Given the description of an element on the screen output the (x, y) to click on. 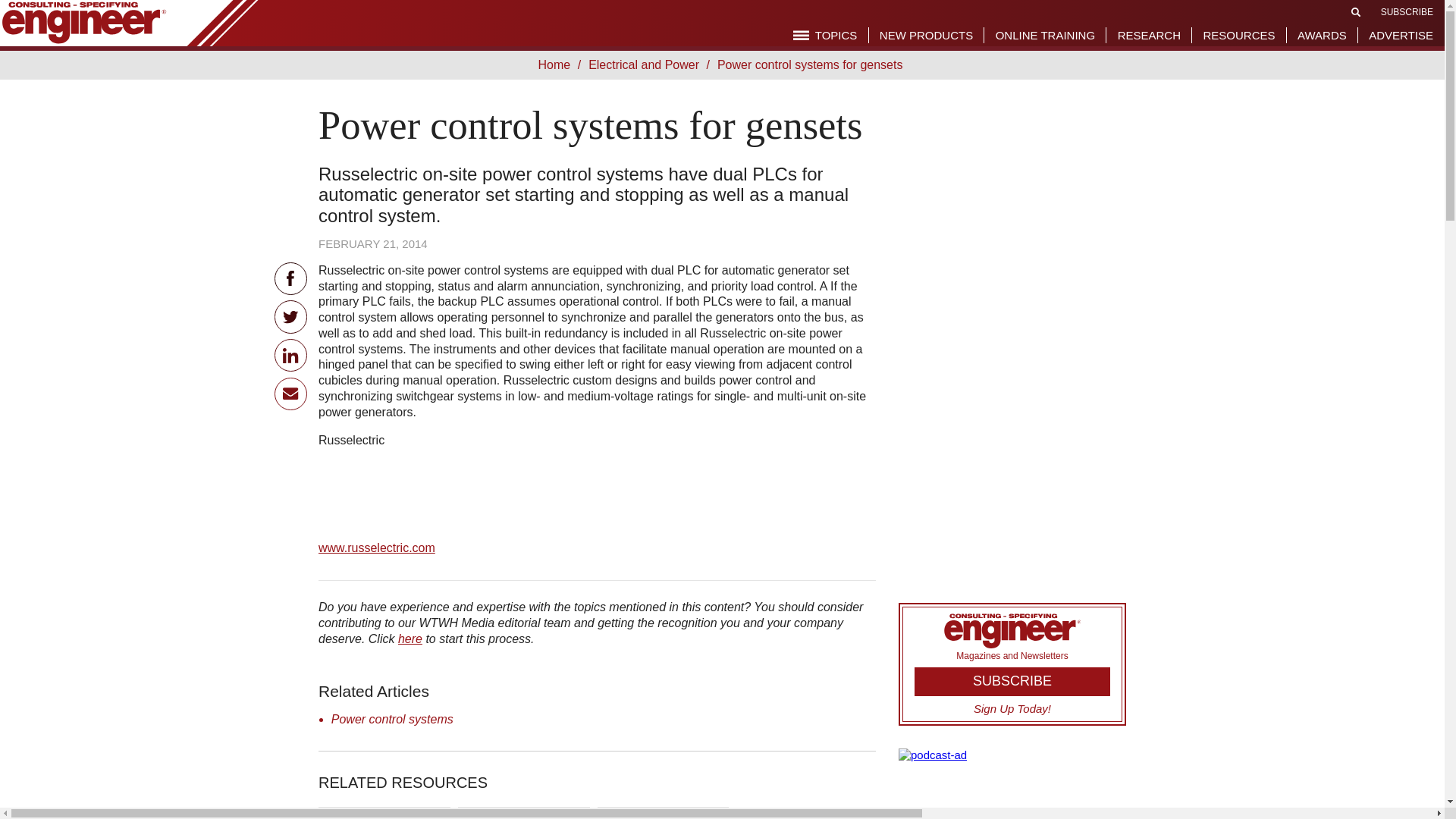
How to Contribute (409, 638)
www.russelectric.com (376, 547)
LinkedIn (291, 355)
SUBSCRIBE (1406, 11)
Electrical and Power (647, 64)
RESEARCH (1149, 34)
Power control systems for gensets (812, 64)
Facebook (291, 278)
TOPICS (824, 34)
ADVERTISE (1400, 34)
